Given the description of an element on the screen output the (x, y) to click on. 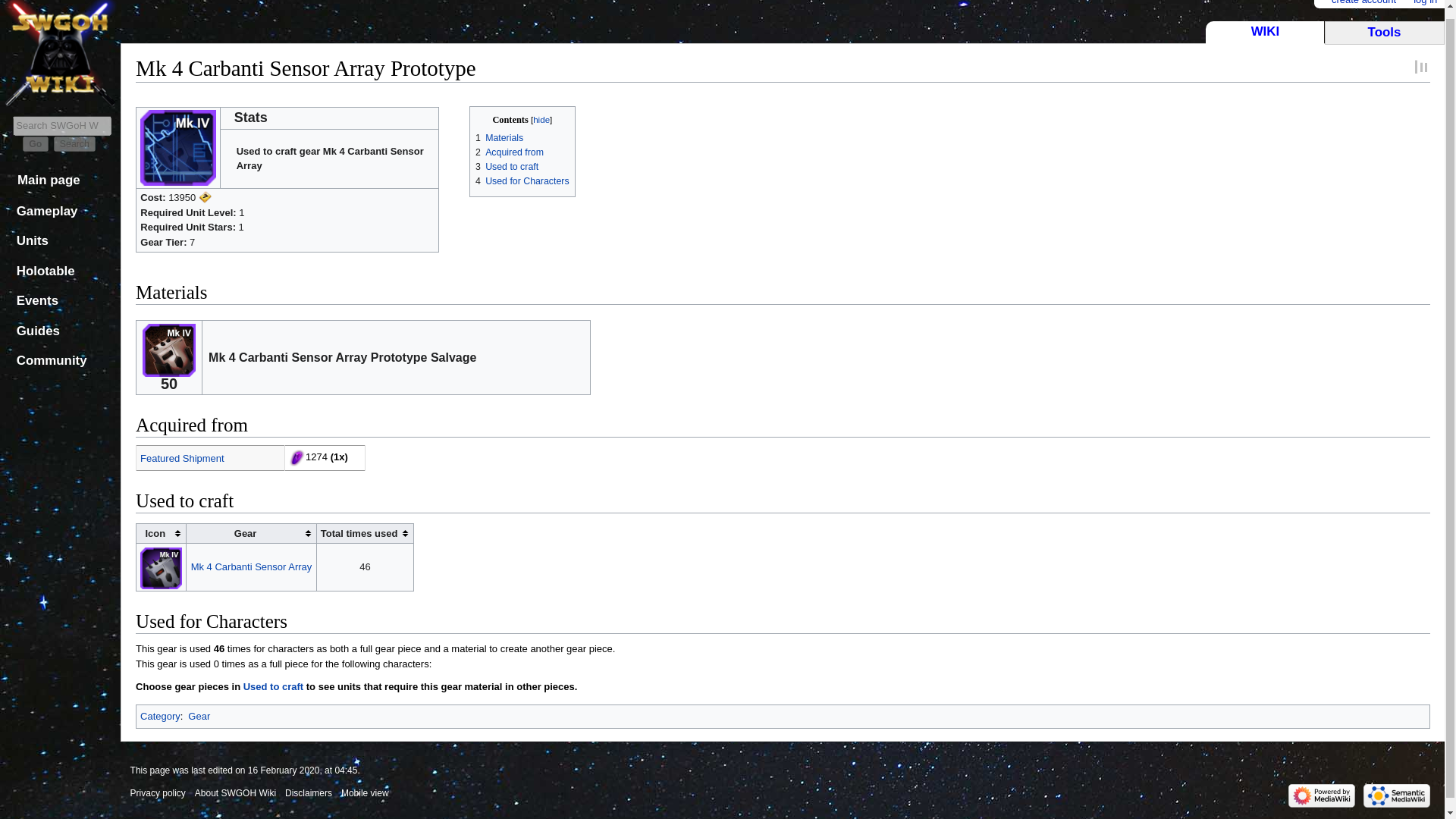
Mk 4 Carbanti Sensor Array Prototype (272, 686)
Featured Shipment (181, 458)
Sort ascending (364, 533)
Main page (48, 179)
Special:Categories (159, 715)
Mk 4 Carbanti Sensor Array (251, 566)
Featured Shipment (181, 458)
Search (74, 143)
Sort ascending (161, 533)
1 Materials (499, 137)
Go (35, 143)
4 Used for Characters (522, 181)
Mk 4 Carbanti Sensor Array Prototype Salvage (168, 348)
Sort ascending (250, 533)
create account (1364, 3)
